Given the description of an element on the screen output the (x, y) to click on. 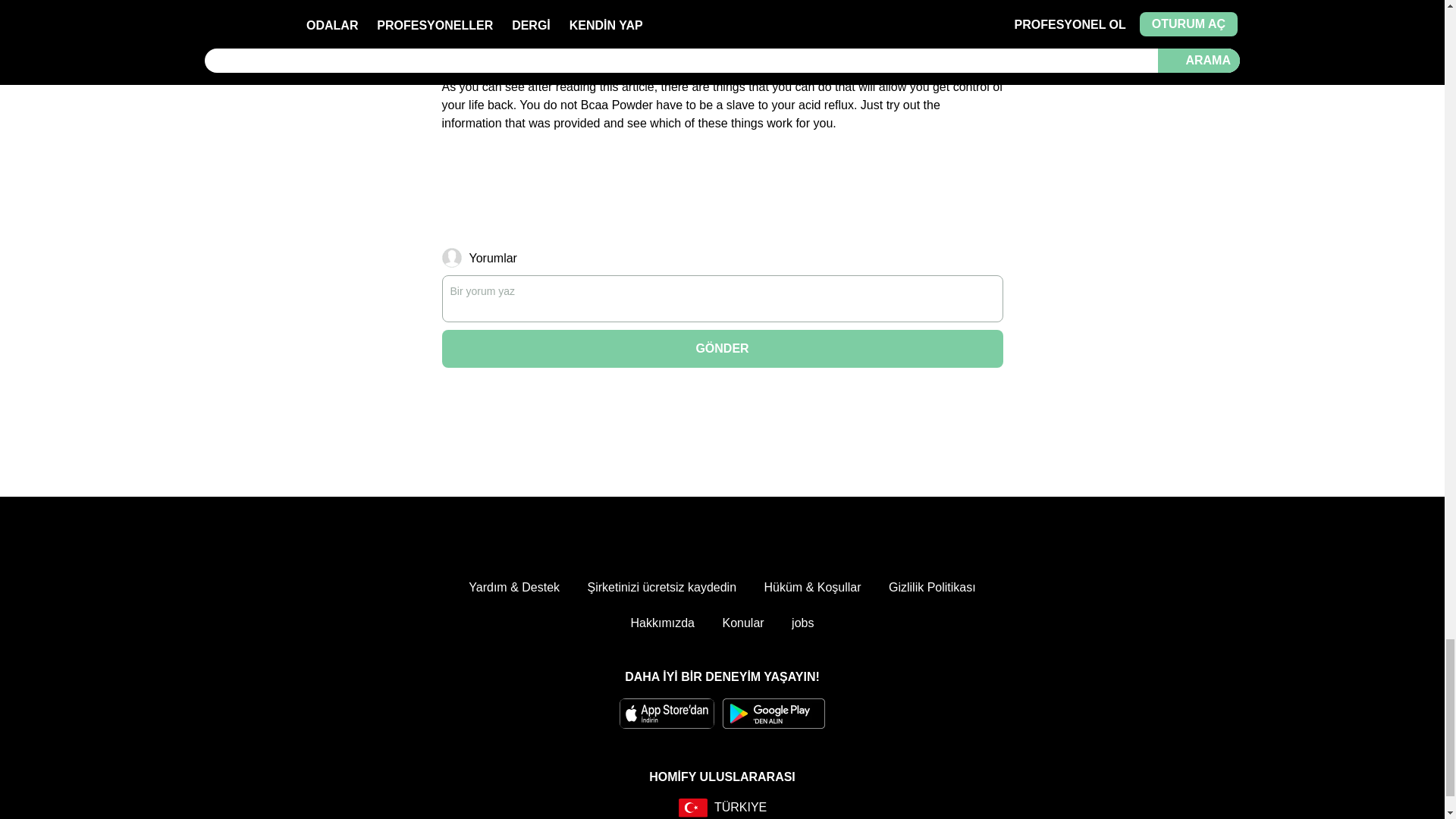
jobs (802, 623)
Konular (742, 623)
